Given the description of an element on the screen output the (x, y) to click on. 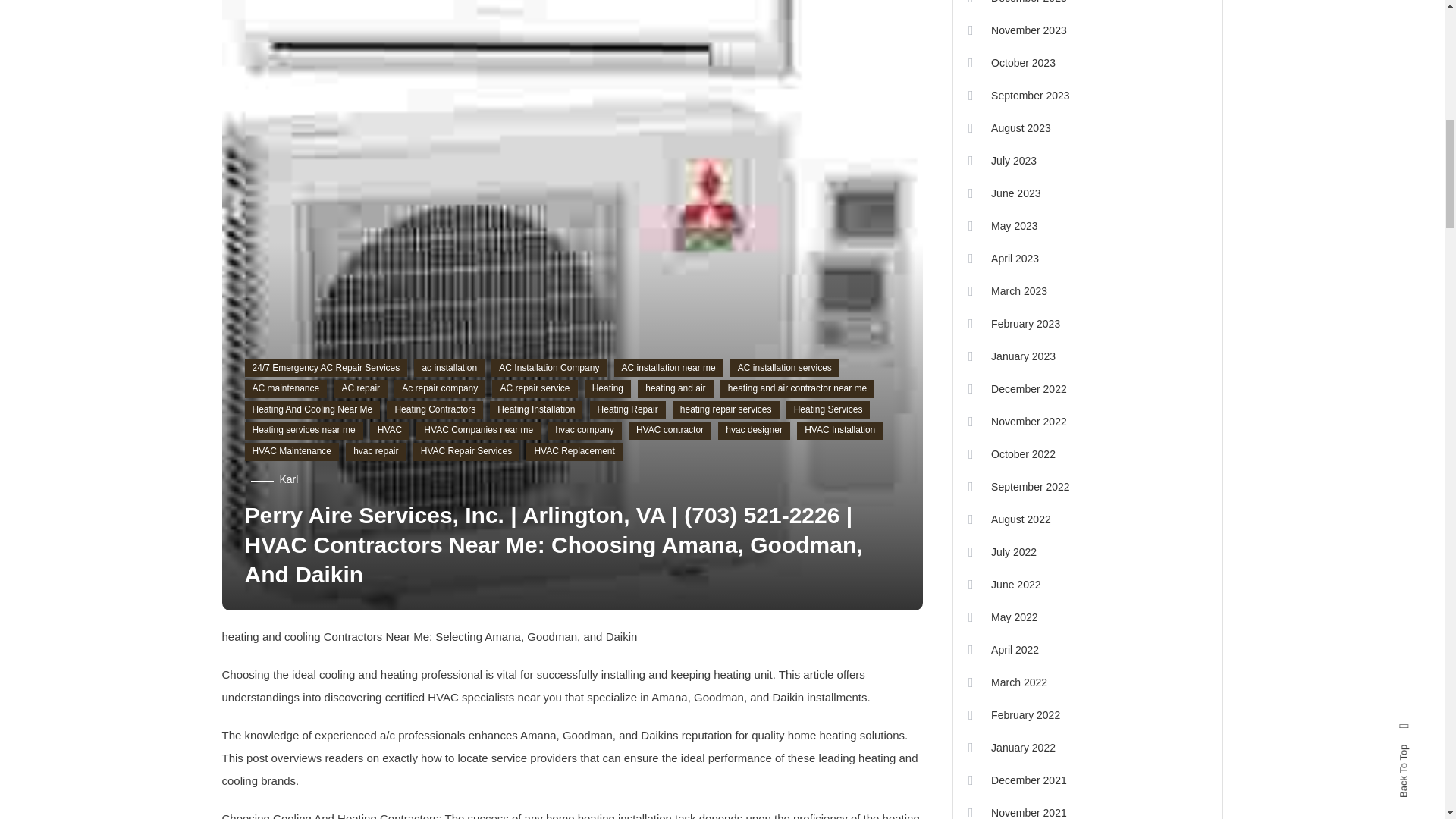
ac installation (448, 368)
